Given the description of an element on the screen output the (x, y) to click on. 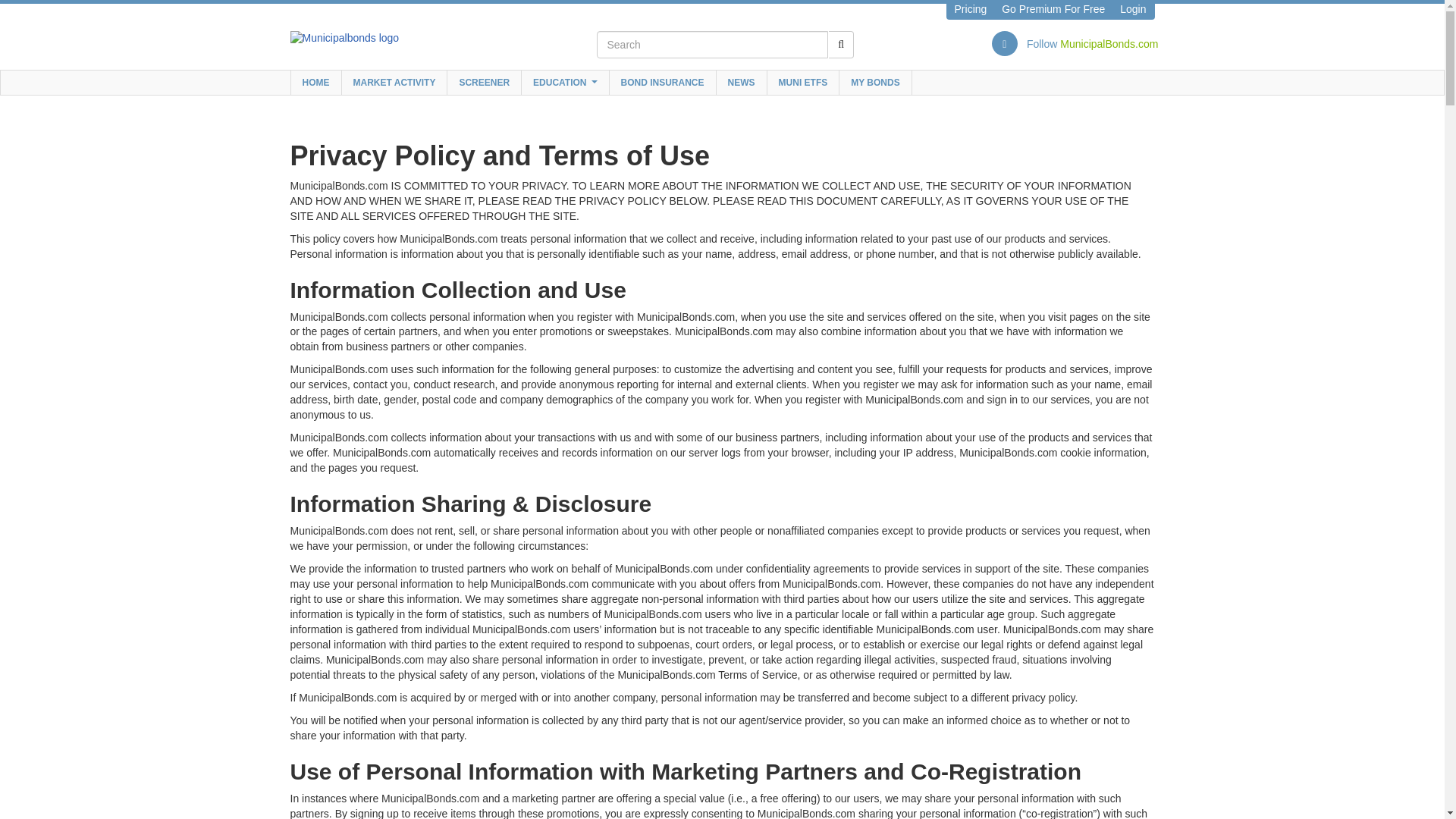
Login (1133, 8)
Pricing (971, 8)
Market Activity (393, 82)
MARKET ACTIVITY (393, 82)
Screener (483, 82)
EDUCATION (564, 82)
HOME (316, 82)
Muni ETFs (803, 82)
Go Premium For Free (1052, 8)
Home (316, 82)
